Given the description of an element on the screen output the (x, y) to click on. 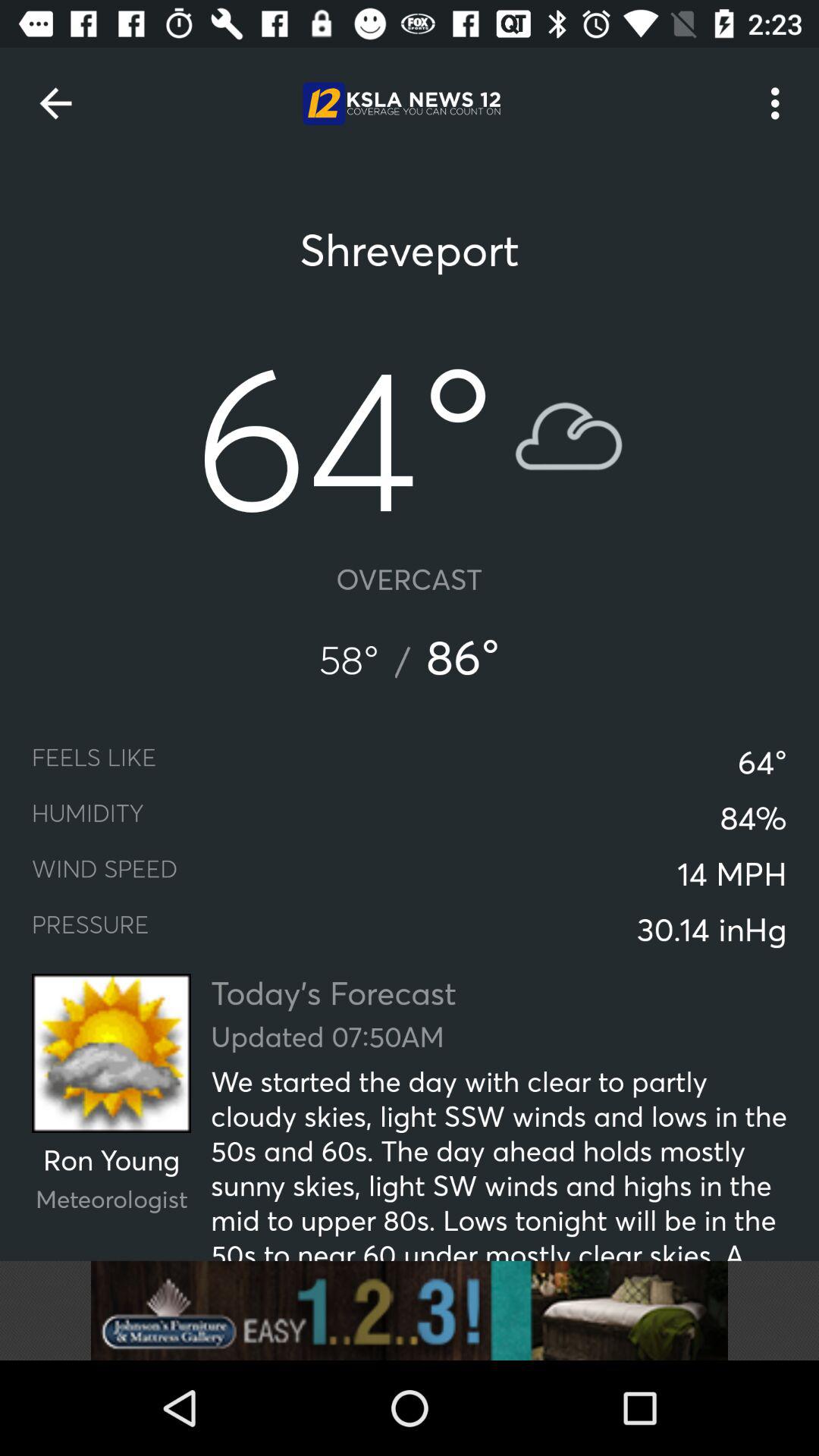
go to advertisement page (409, 1310)
